Given the description of an element on the screen output the (x, y) to click on. 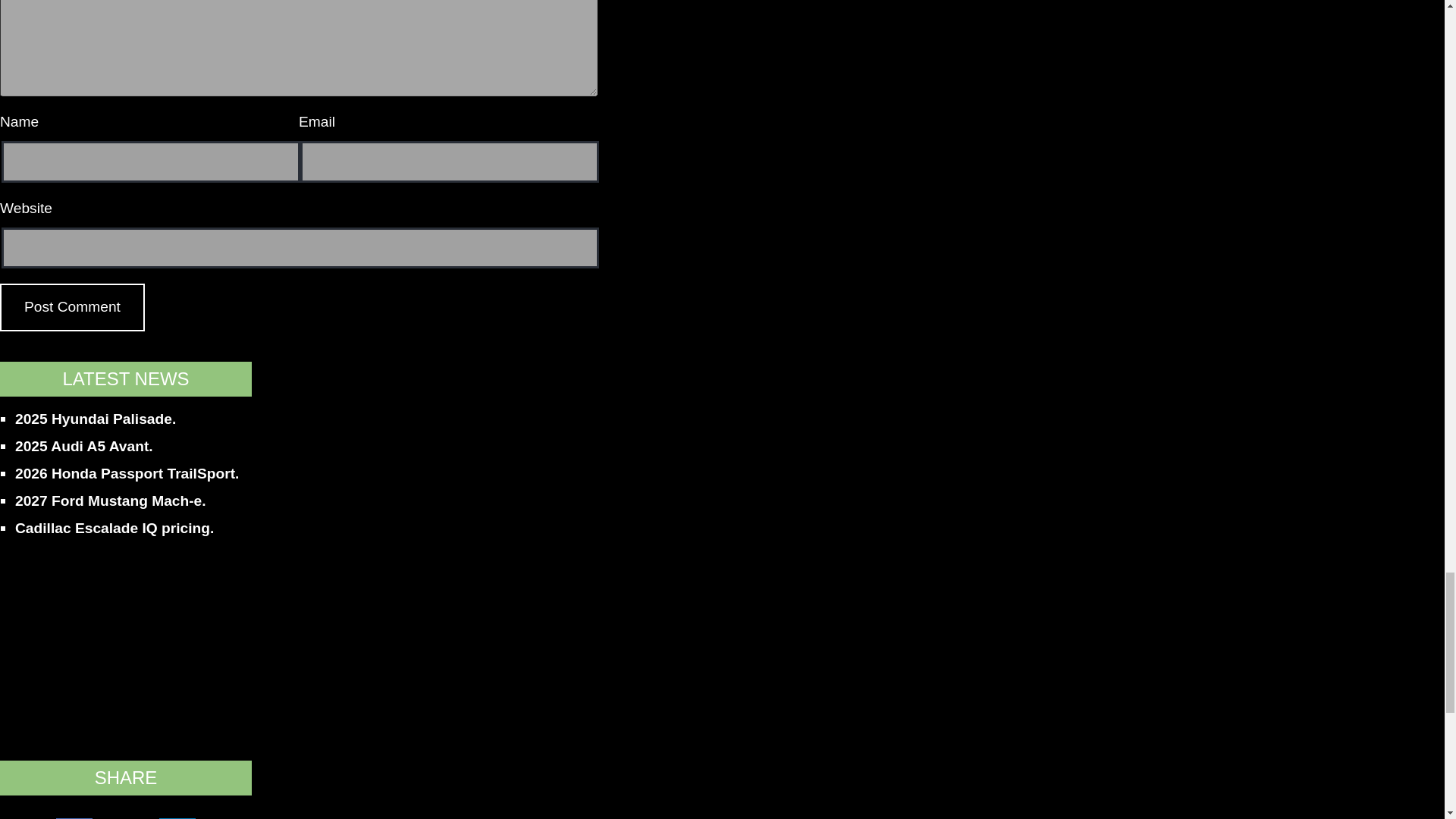
Post Comment (72, 307)
Post Comment (72, 307)
2025 Hyundai Palisade. (95, 418)
Cadillac Escalade IQ pricing. (114, 528)
Cadillac Escalade IQ pricing. (114, 528)
2025 Audi A5 Avant. (83, 446)
2027 Ford Mustang Mach-e. (110, 500)
2026 Honda Passport TrailSport. (126, 473)
2025 Audi A5 Avant. (83, 446)
2026 Honda Passport TrailSport. (126, 473)
2027 Ford Mustang Mach-e. (110, 500)
2025 Hyundai Palisade. (95, 418)
